Given the description of an element on the screen output the (x, y) to click on. 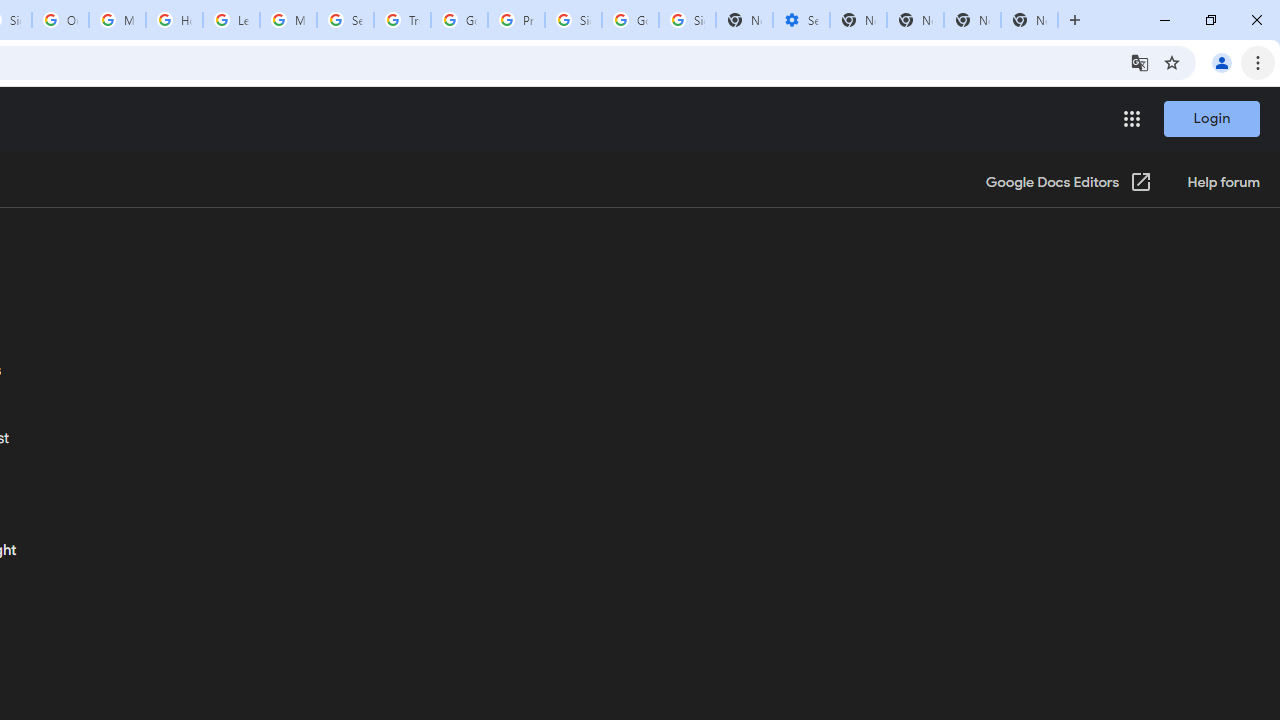
New Tab (1029, 20)
Sign in - Google Accounts (687, 20)
Trusted Information and Content - Google Safety Center (402, 20)
Google Cybersecurity Innovations - Google Safety Center (630, 20)
Settings - Performance (801, 20)
Google Ads - Sign in (459, 20)
Sign in - Google Accounts (573, 20)
Translate this page (1139, 62)
